Given the description of an element on the screen output the (x, y) to click on. 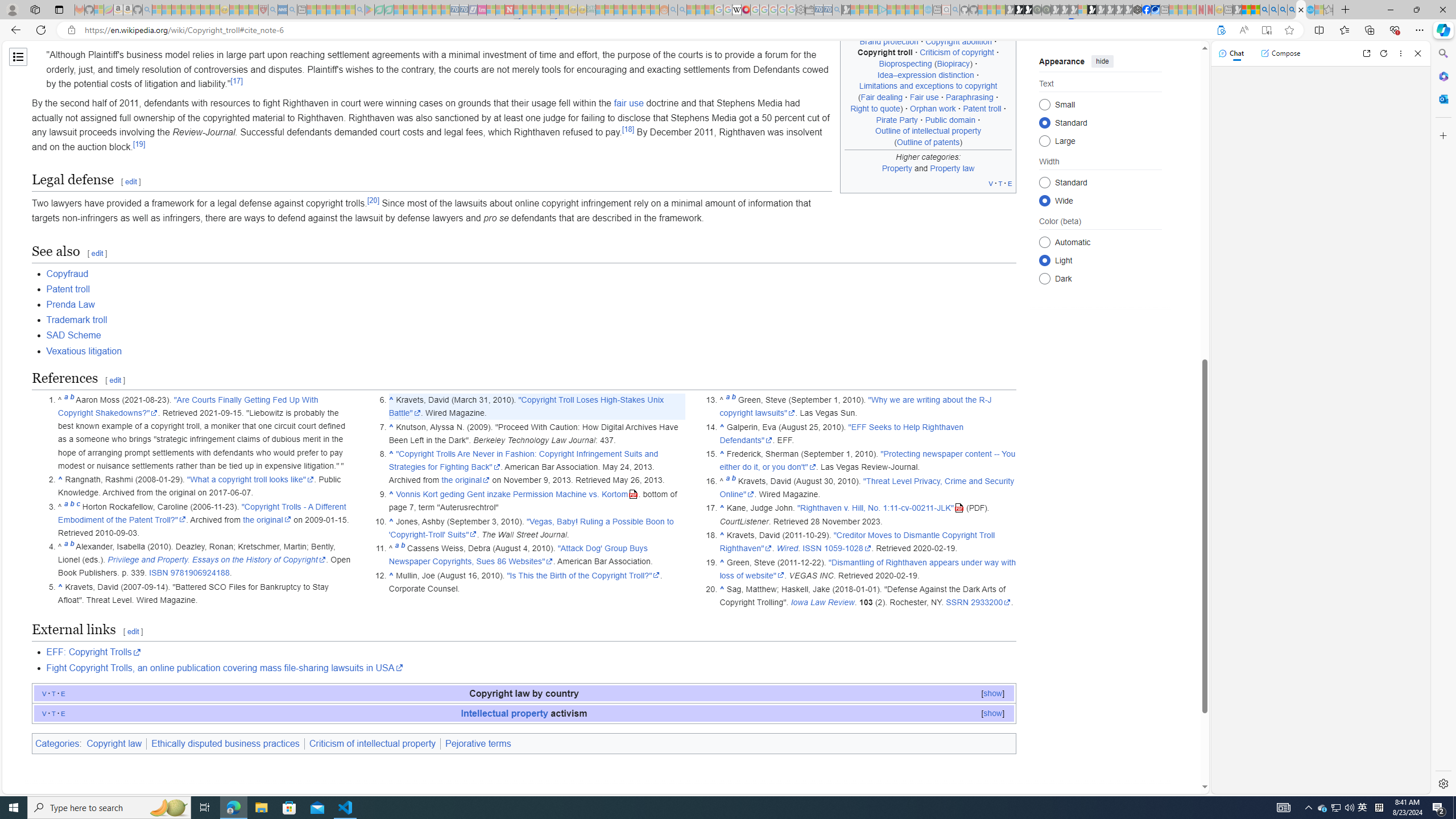
Ethically disputed business practices (225, 742)
Brand protection (888, 40)
"EFF Seeks to Help Righthaven Defendants" (841, 432)
Close Customize pane (1442, 135)
Large (1044, 140)
SSRN (957, 602)
Pejorative terms (478, 742)
